Given the description of an element on the screen output the (x, y) to click on. 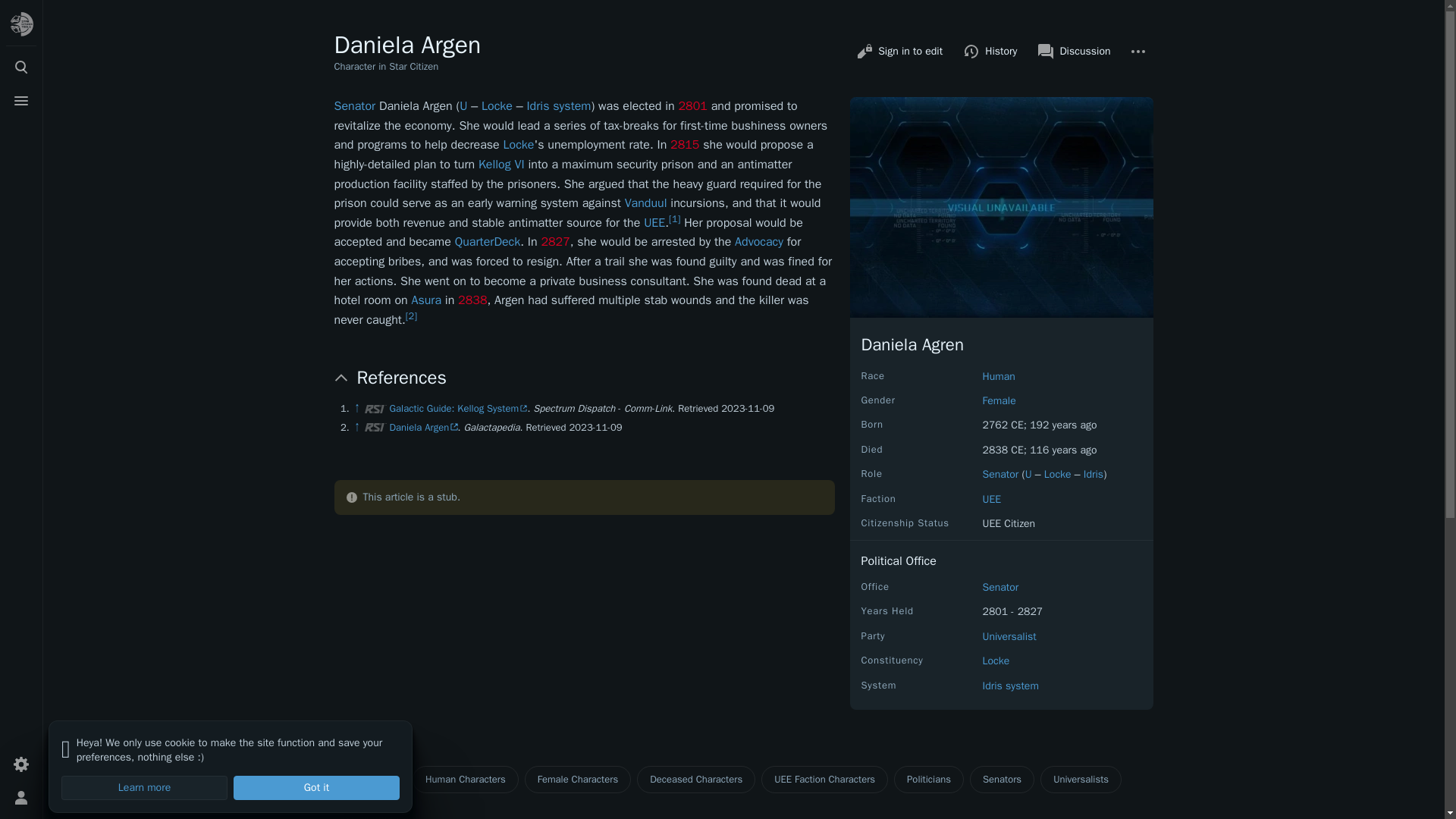
Visit the main page (20, 24)
Preferences (20, 764)
Toggle personal menu (20, 797)
Toggle menu (20, 100)
